Given the description of an element on the screen output the (x, y) to click on. 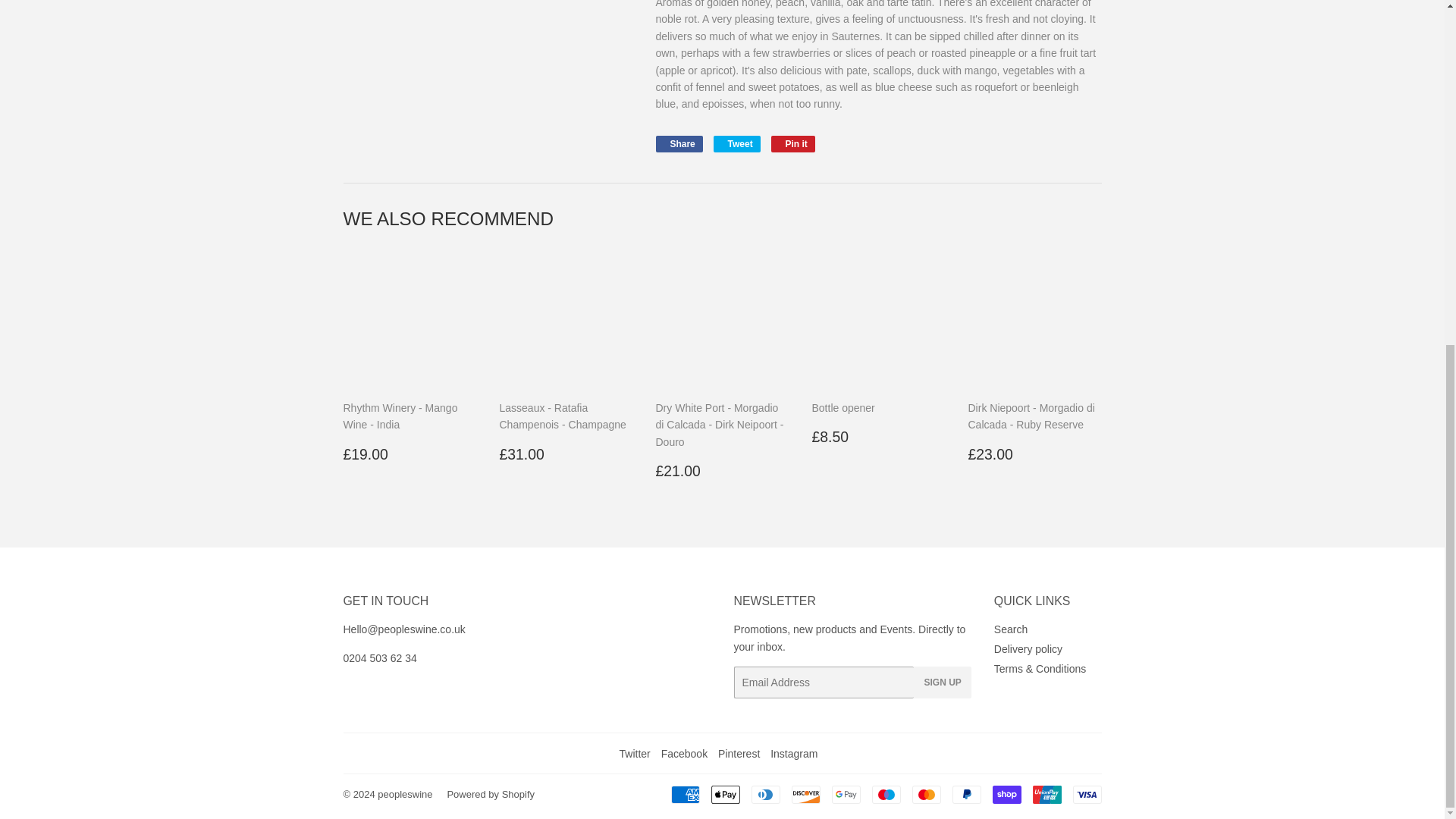
Discover (806, 794)
Diners Club (764, 794)
Share on Facebook (678, 143)
Shop Pay (1005, 794)
Maestro (886, 794)
peopleswine on Facebook (684, 753)
Google Pay (845, 794)
PayPal (966, 794)
Pin on Pinterest (793, 143)
peopleswine on Instagram (793, 753)
